Given the description of an element on the screen output the (x, y) to click on. 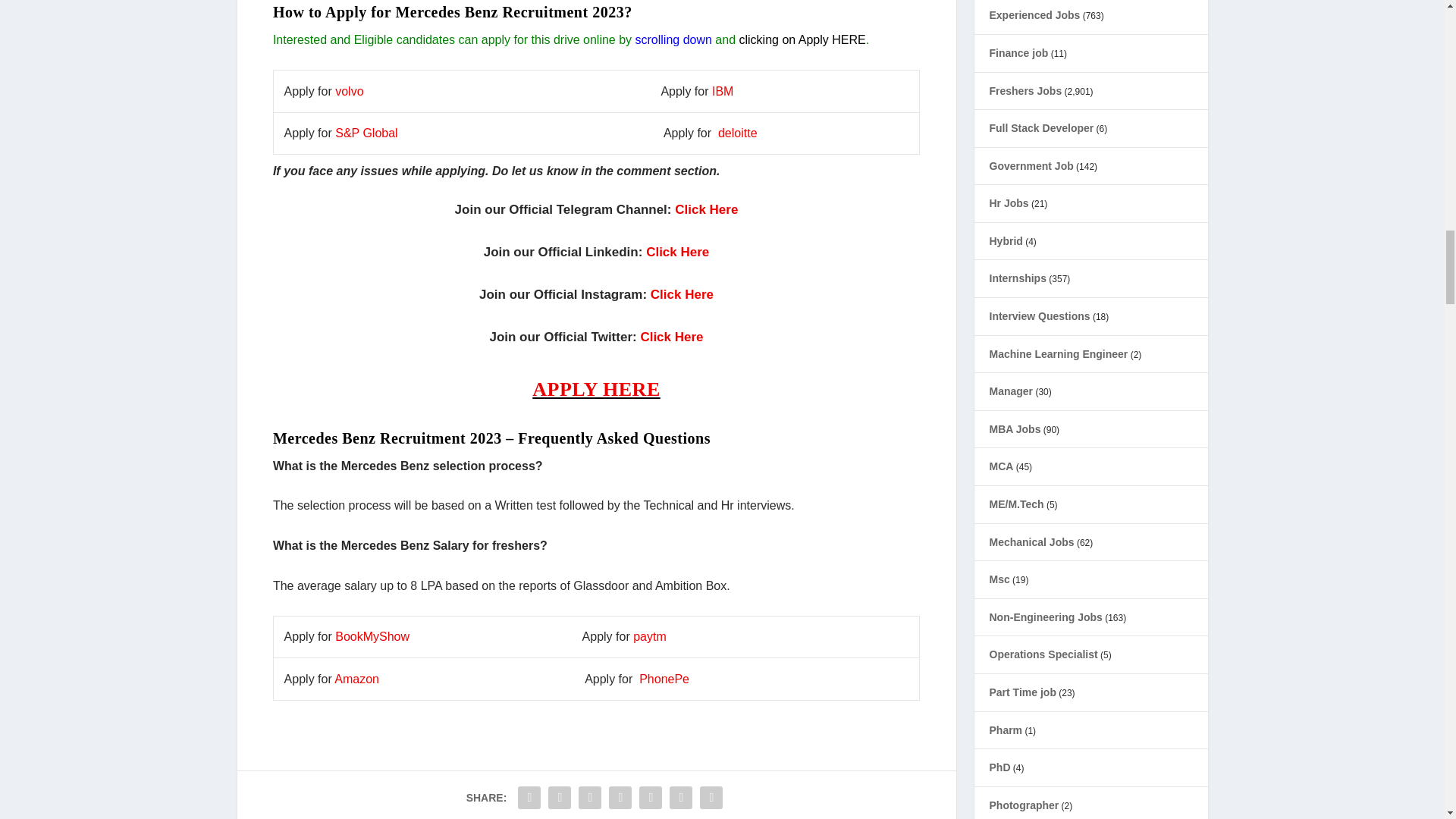
IBM (722, 91)
